Given the description of an element on the screen output the (x, y) to click on. 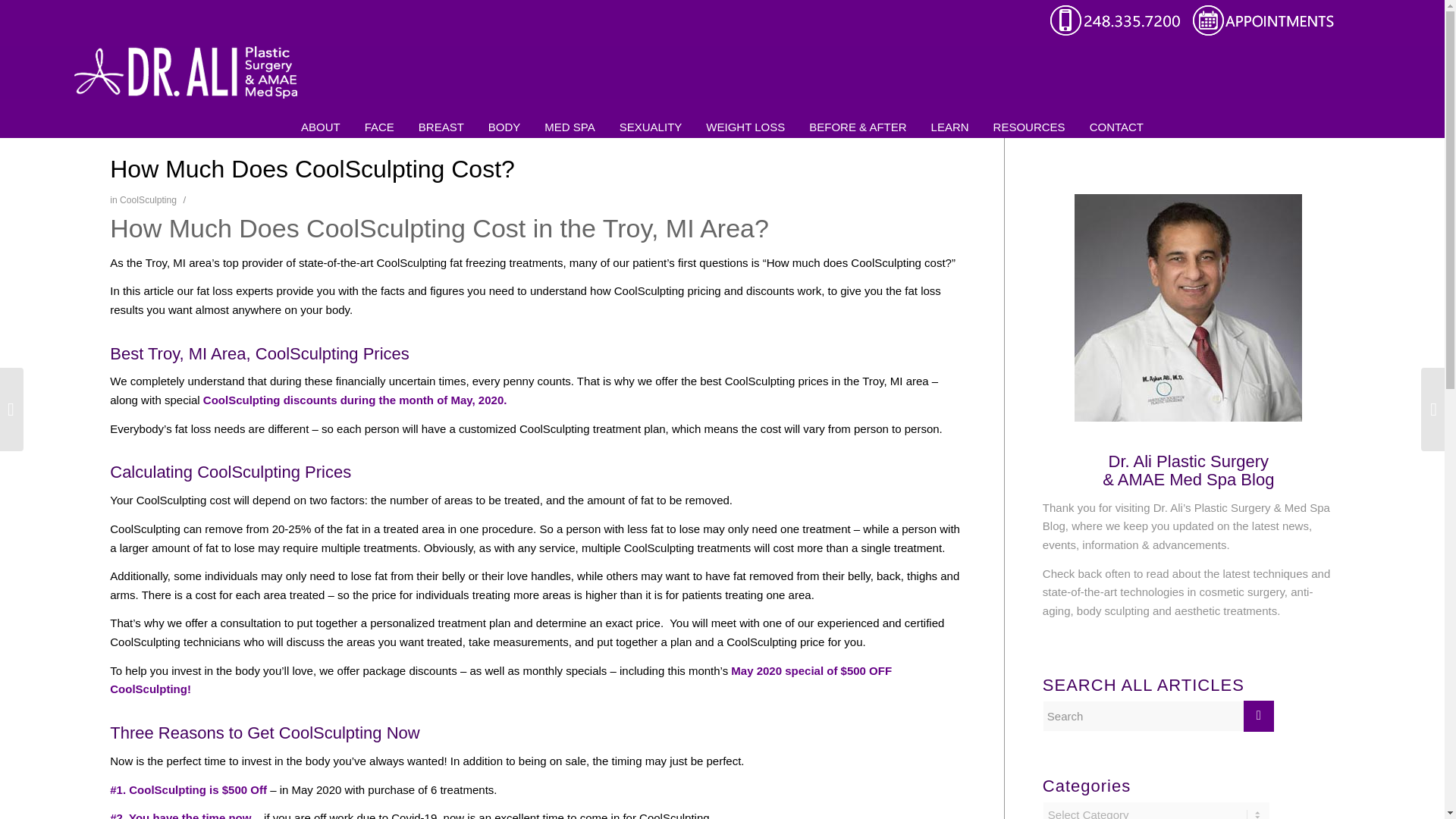
ABOUT (320, 118)
Click to Call (1120, 32)
BODY (504, 118)
Permanent Link: How Much Does CoolSculpting Cost? (312, 168)
FACE (379, 118)
BREAST (441, 118)
Click for Contact Form (1263, 32)
